Given the description of an element on the screen output the (x, y) to click on. 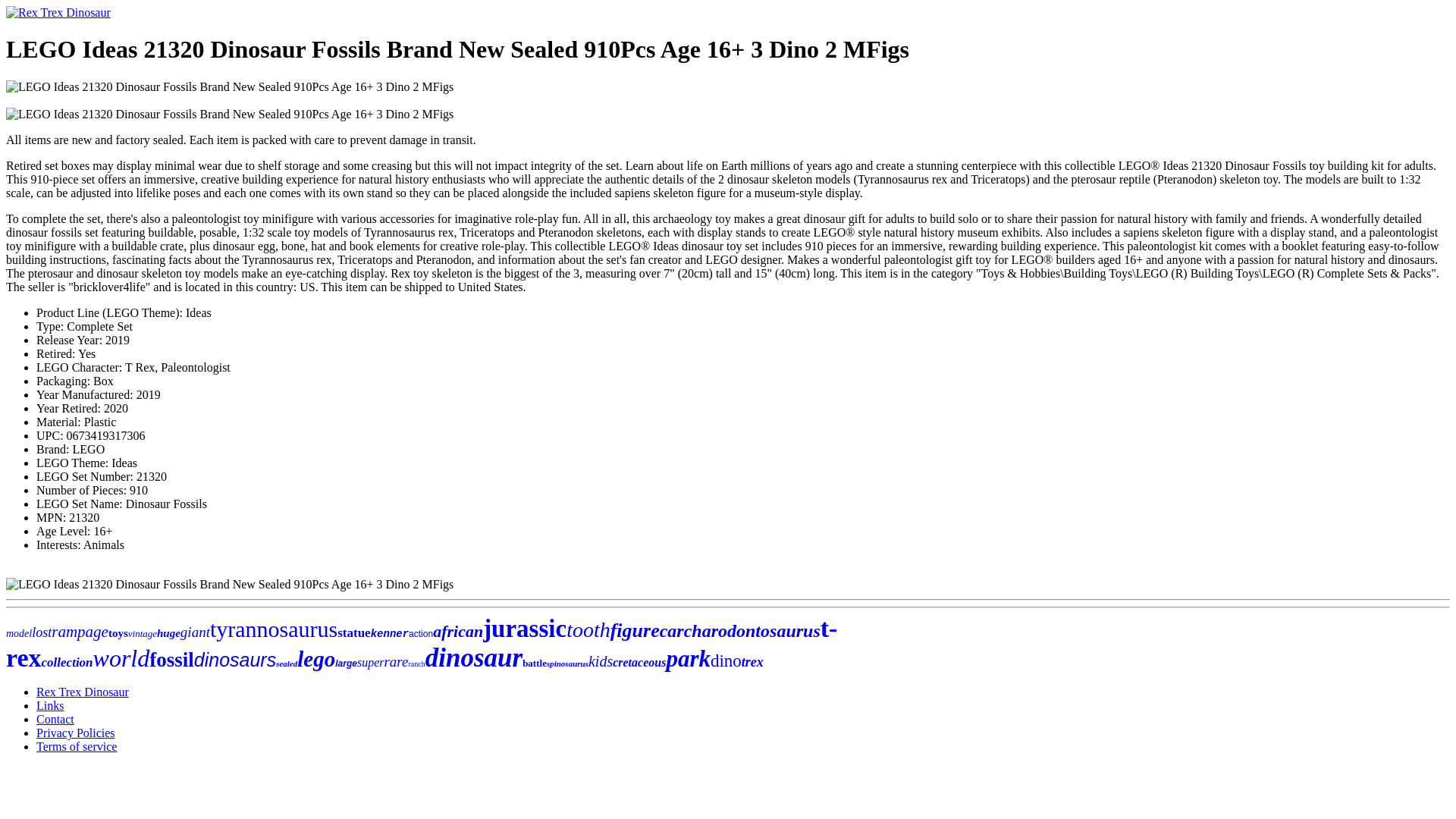
collection (67, 662)
action (420, 633)
toys (117, 633)
model (18, 633)
figure (634, 630)
lost (41, 631)
fossil (171, 659)
tyrannosaurus (273, 628)
world (121, 657)
tooth (588, 629)
large (345, 663)
rampage (78, 631)
carcharodontosaurus (740, 630)
kenner (390, 633)
african (457, 630)
